Given the description of an element on the screen output the (x, y) to click on. 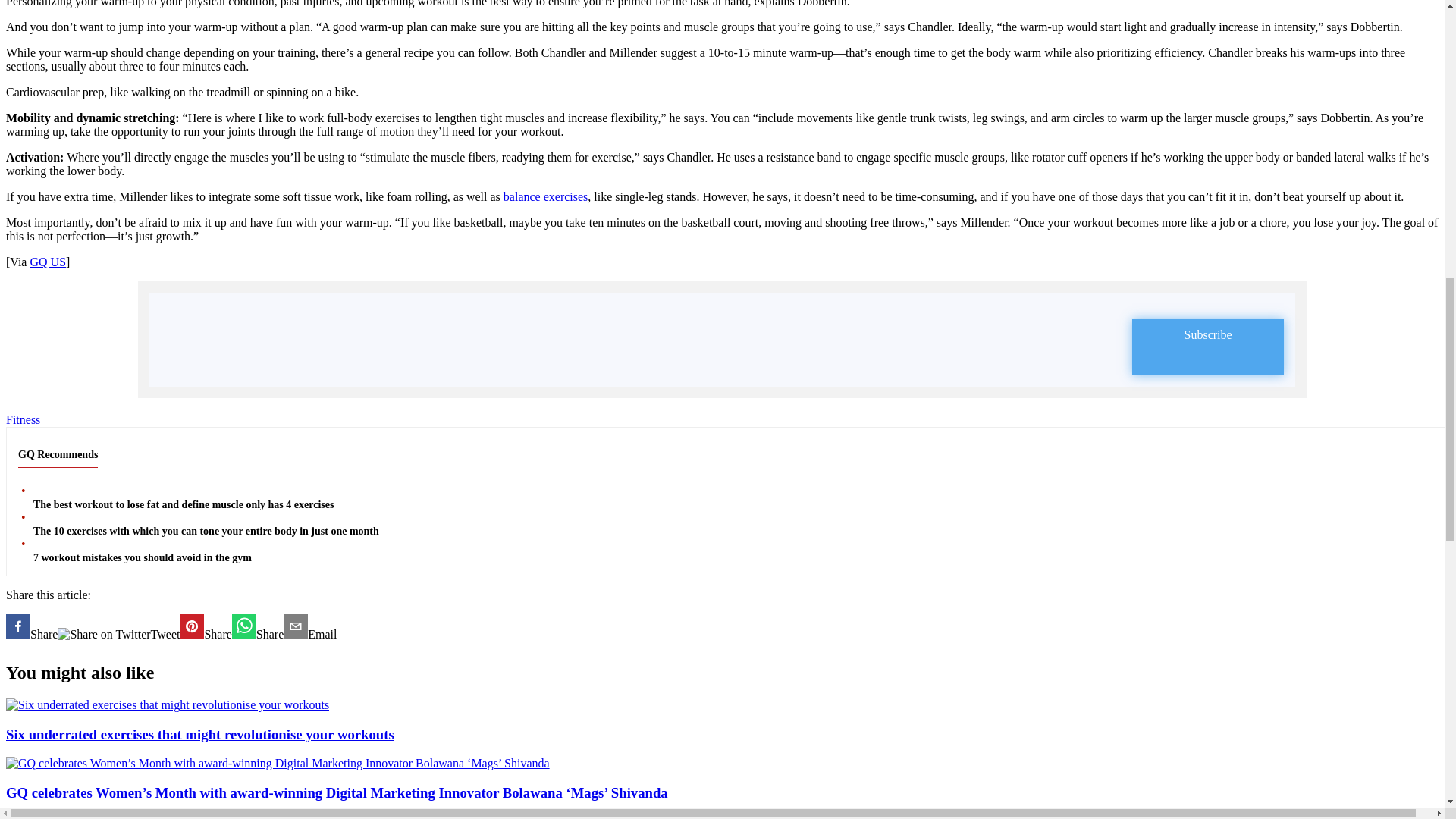
Share on Twitter (103, 634)
Subscribe (1208, 347)
Fitness (22, 419)
Email (309, 627)
balance exercises (545, 196)
Share (31, 627)
